Given the description of an element on the screen output the (x, y) to click on. 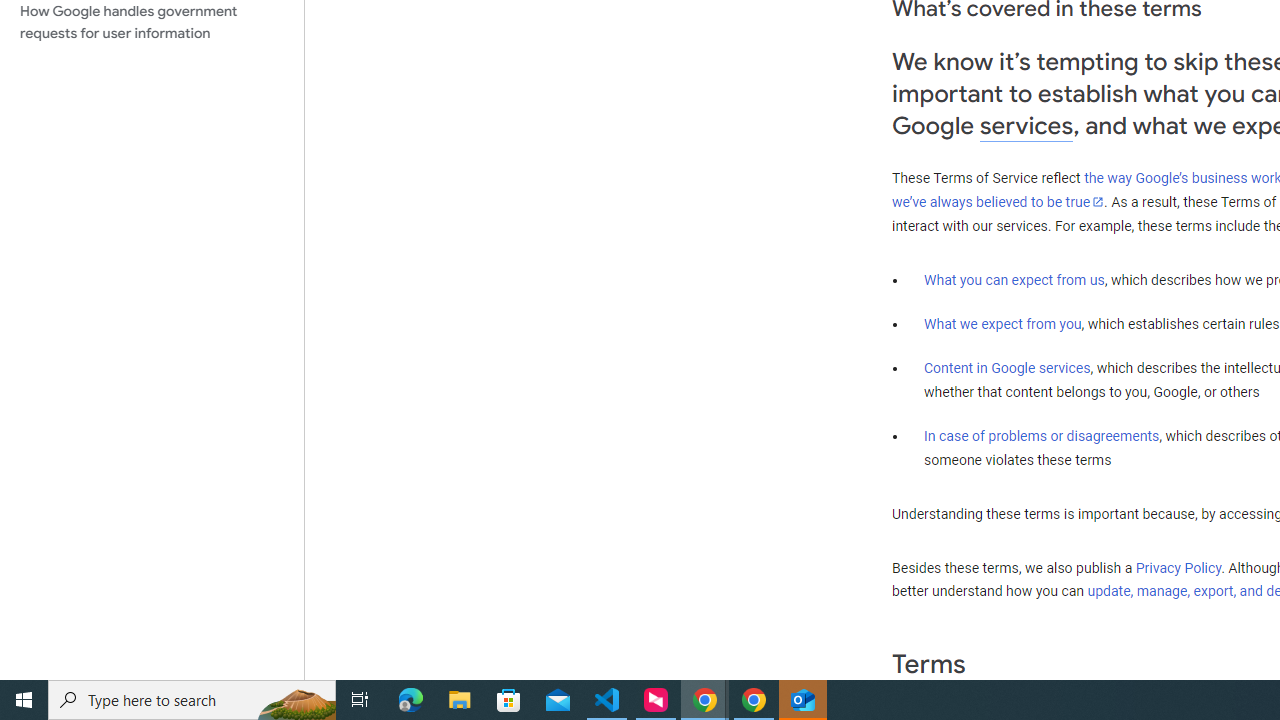
What we expect from you (1002, 323)
What you can expect from us (1014, 279)
services (1026, 125)
